Given the description of an element on the screen output the (x, y) to click on. 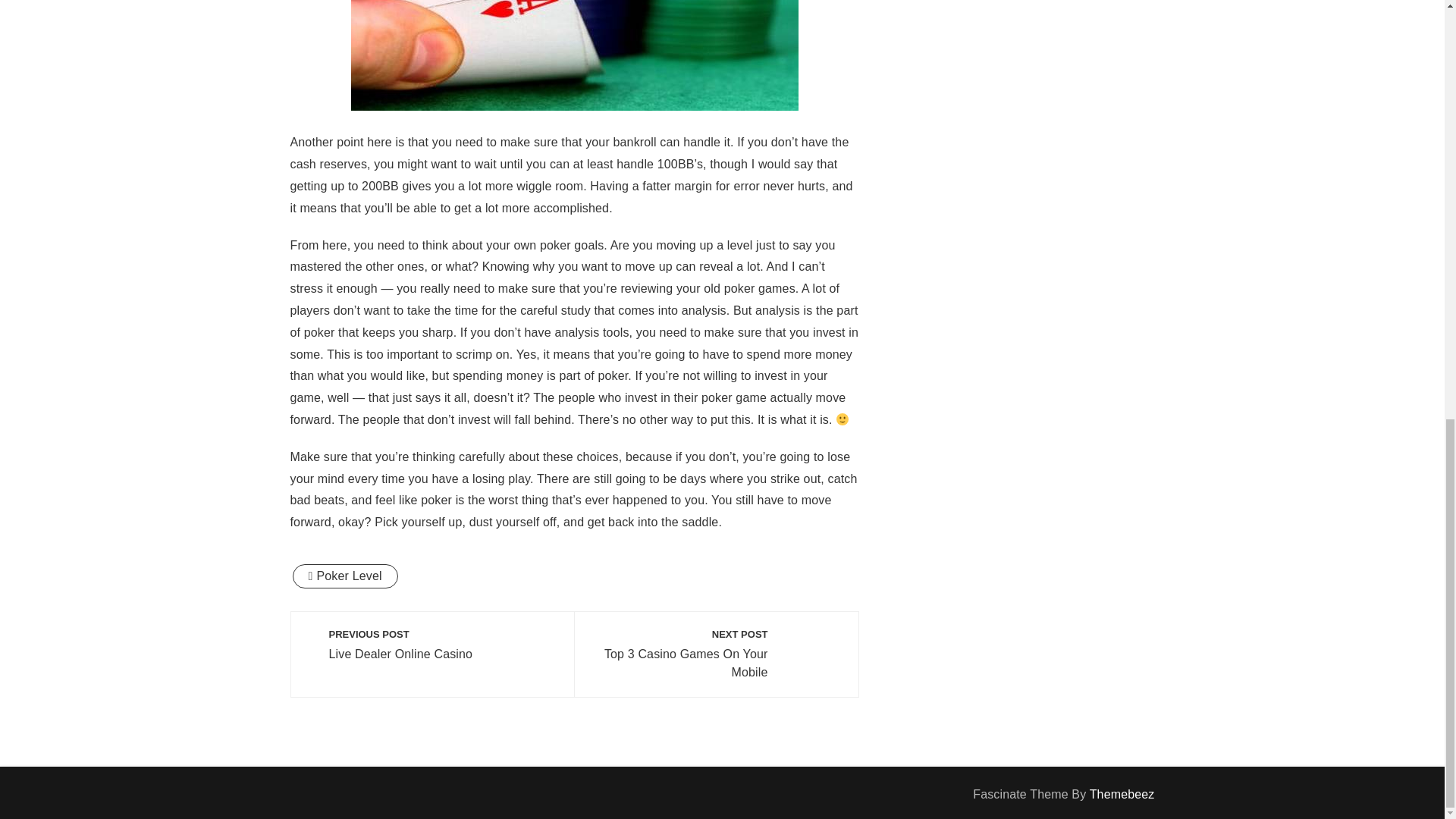
Poker Level (432, 645)
Themebeez (344, 576)
